Given the description of an element on the screen output the (x, y) to click on. 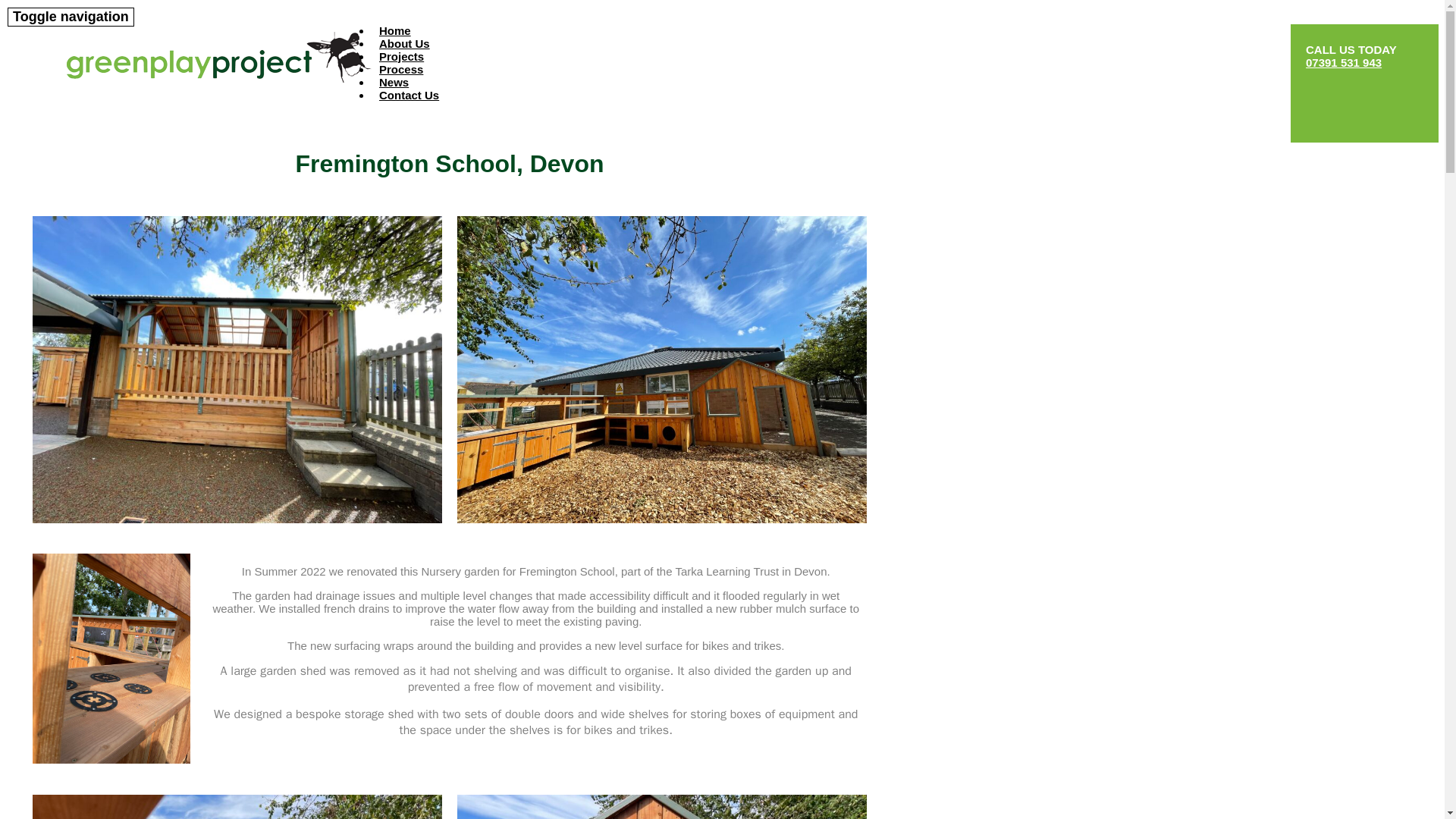
Projects (400, 55)
Home (395, 29)
News (393, 81)
About Us (404, 43)
Process (400, 68)
Projects (400, 55)
Toggle navigation (70, 16)
07391 531 943 (1343, 62)
Process (400, 68)
Home (395, 29)
Contact Us (408, 95)
News (393, 81)
Contact Us (408, 95)
About Us (404, 43)
